Given the description of an element on the screen output the (x, y) to click on. 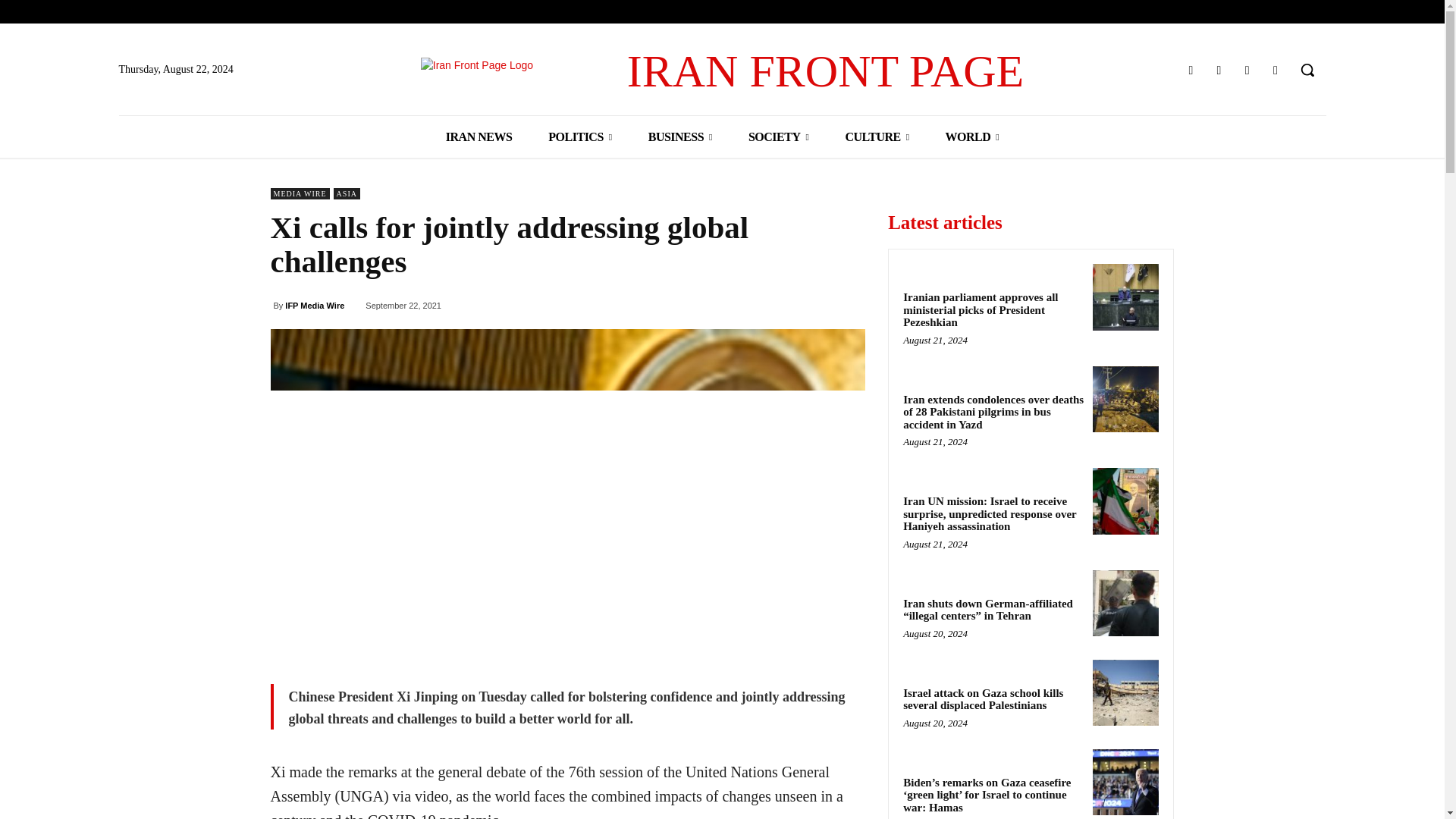
Iran Front Page Logo (721, 70)
Facebook (1190, 69)
Iran Front Page Logo (523, 71)
